Given the description of an element on the screen output the (x, y) to click on. 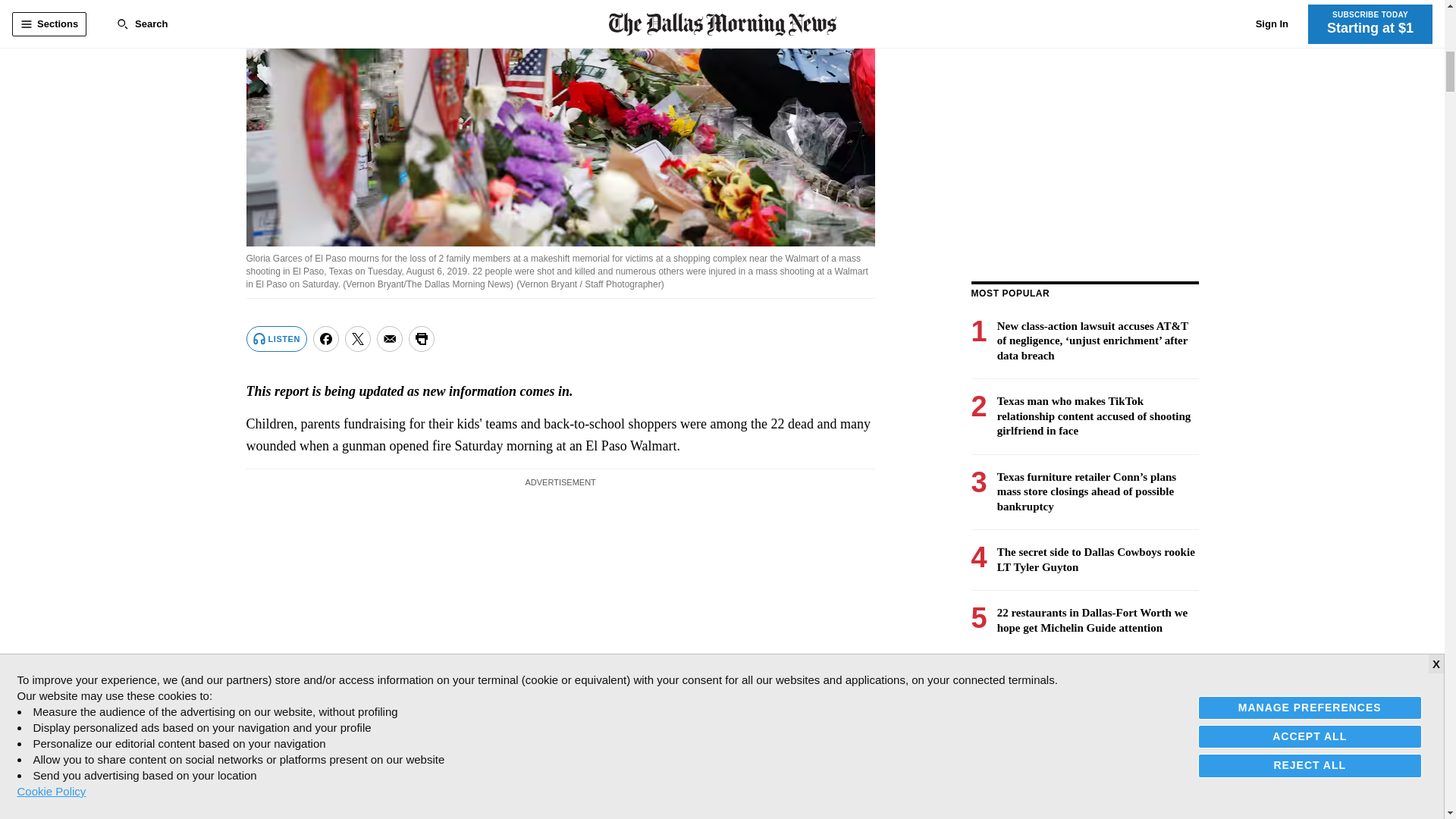
Share on Facebook (326, 338)
Print (421, 338)
Share on Twitter (358, 338)
Share via Email (390, 338)
